Given the description of an element on the screen output the (x, y) to click on. 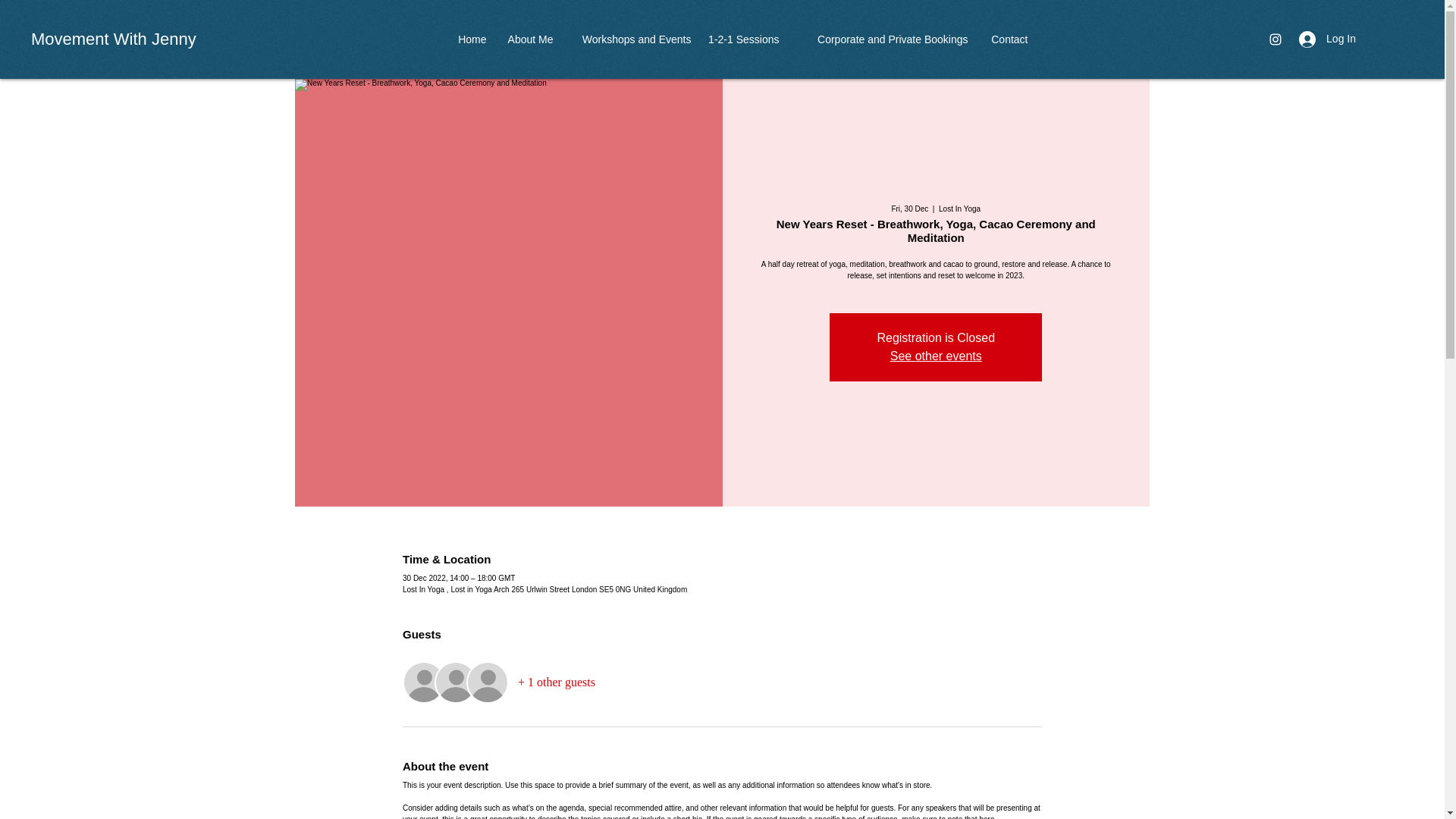
Home (470, 38)
Corporate and Private Bookings (881, 38)
See other events (935, 355)
About Me (527, 38)
Contact (1005, 38)
1-2-1 Sessions (742, 38)
Workshops and Events (629, 38)
Log In (1327, 39)
Movement With Jenny (113, 38)
